Given the description of an element on the screen output the (x, y) to click on. 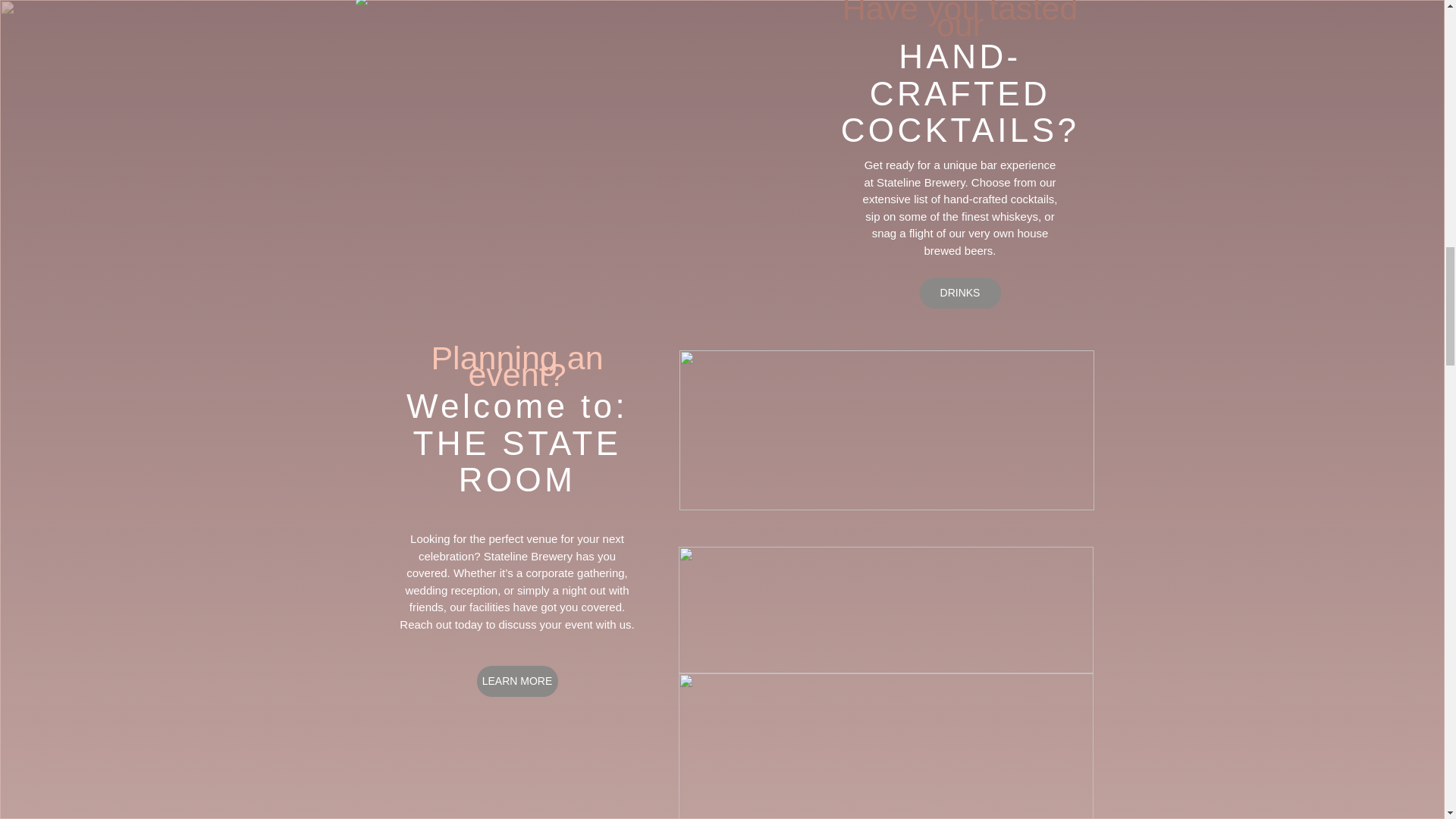
DRINKS (959, 292)
image.png (885, 746)
Banquet Room Photos 1.jpg (885, 610)
LEARN MORE (516, 680)
